Given the description of an element on the screen output the (x, y) to click on. 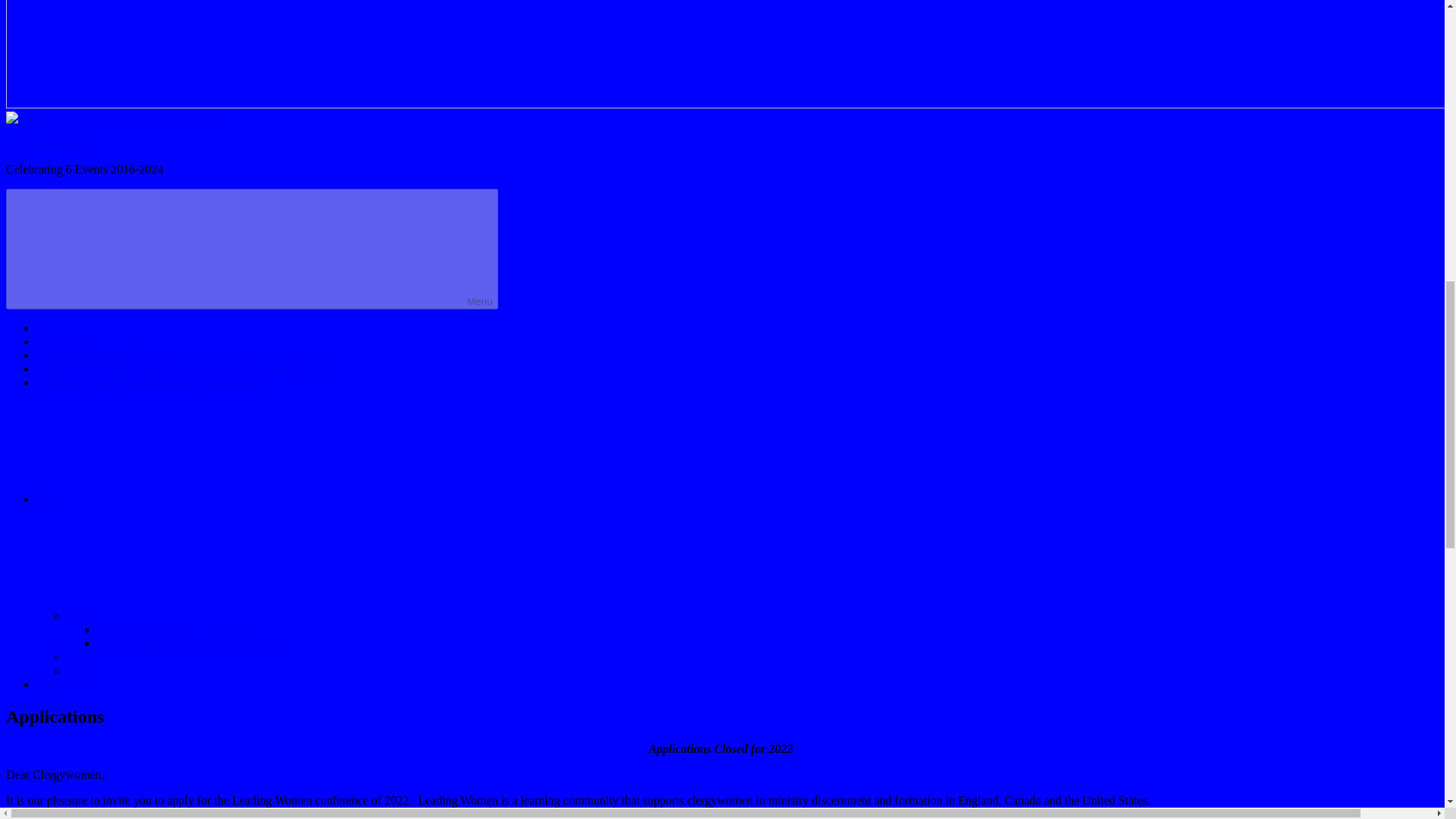
2022 (192, 615)
Menu (251, 249)
FAQ (47, 684)
Past (159, 499)
2022 Leading Women Draft Schedule (189, 643)
Leading Women AAPI (91, 354)
2019 (78, 656)
Family Tree (66, 341)
2016 (78, 670)
Home (50, 327)
LeadingWomen (43, 143)
Leading Women Spanish: Mujeres en Liderazgo (153, 382)
